Given the description of an element on the screen output the (x, y) to click on. 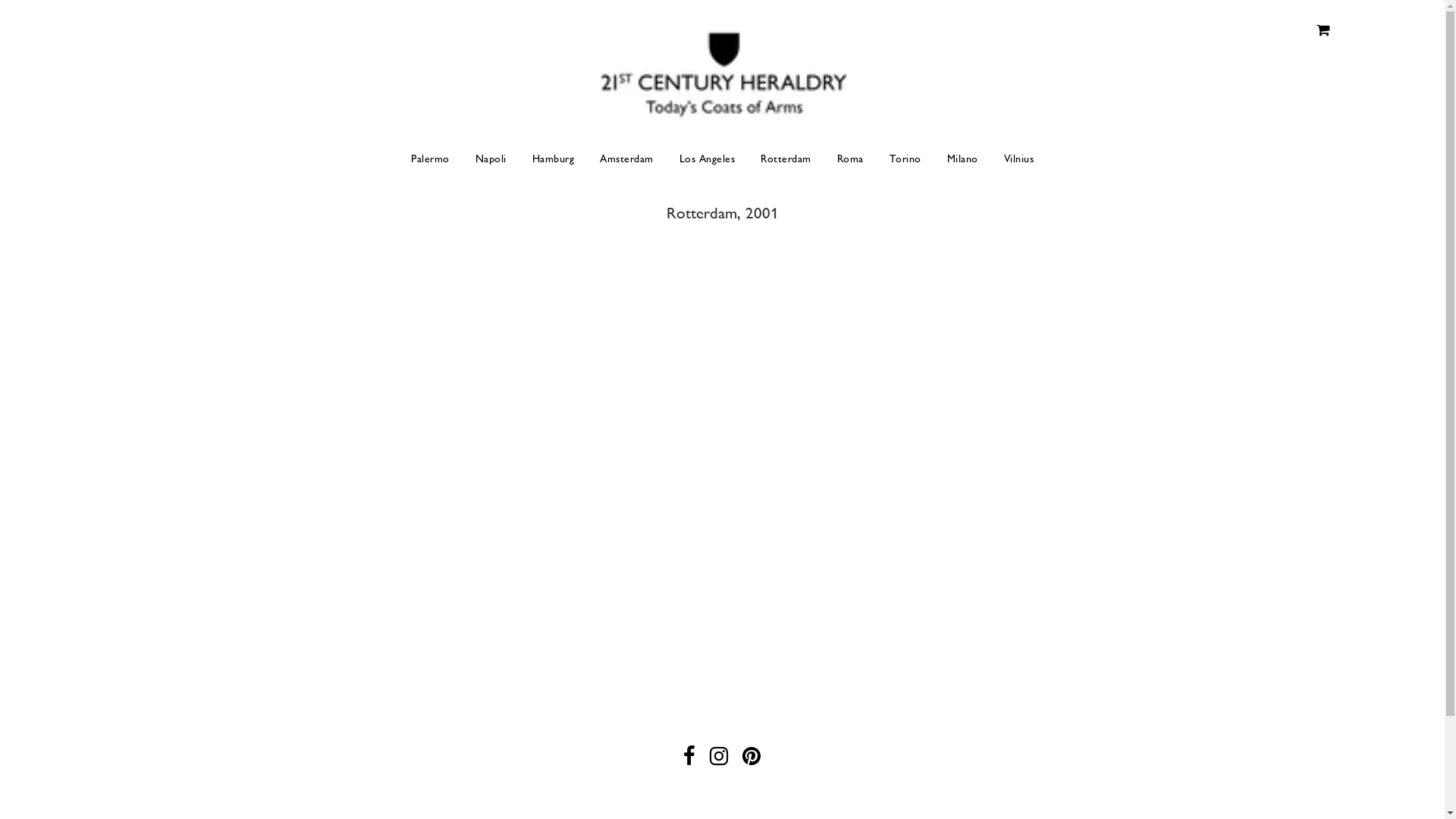
Los Angeles Element type: text (706, 158)
Milano Element type: text (962, 158)
Palermo Element type: text (430, 158)
Rotterdam Element type: text (785, 158)
Vilnius Element type: text (1012, 158)
Roma Element type: text (849, 158)
Torino Element type: text (905, 158)
Hamburg Element type: text (552, 158)
Amsterdam Element type: text (626, 158)
Napoli Element type: text (490, 158)
